Given the description of an element on the screen output the (x, y) to click on. 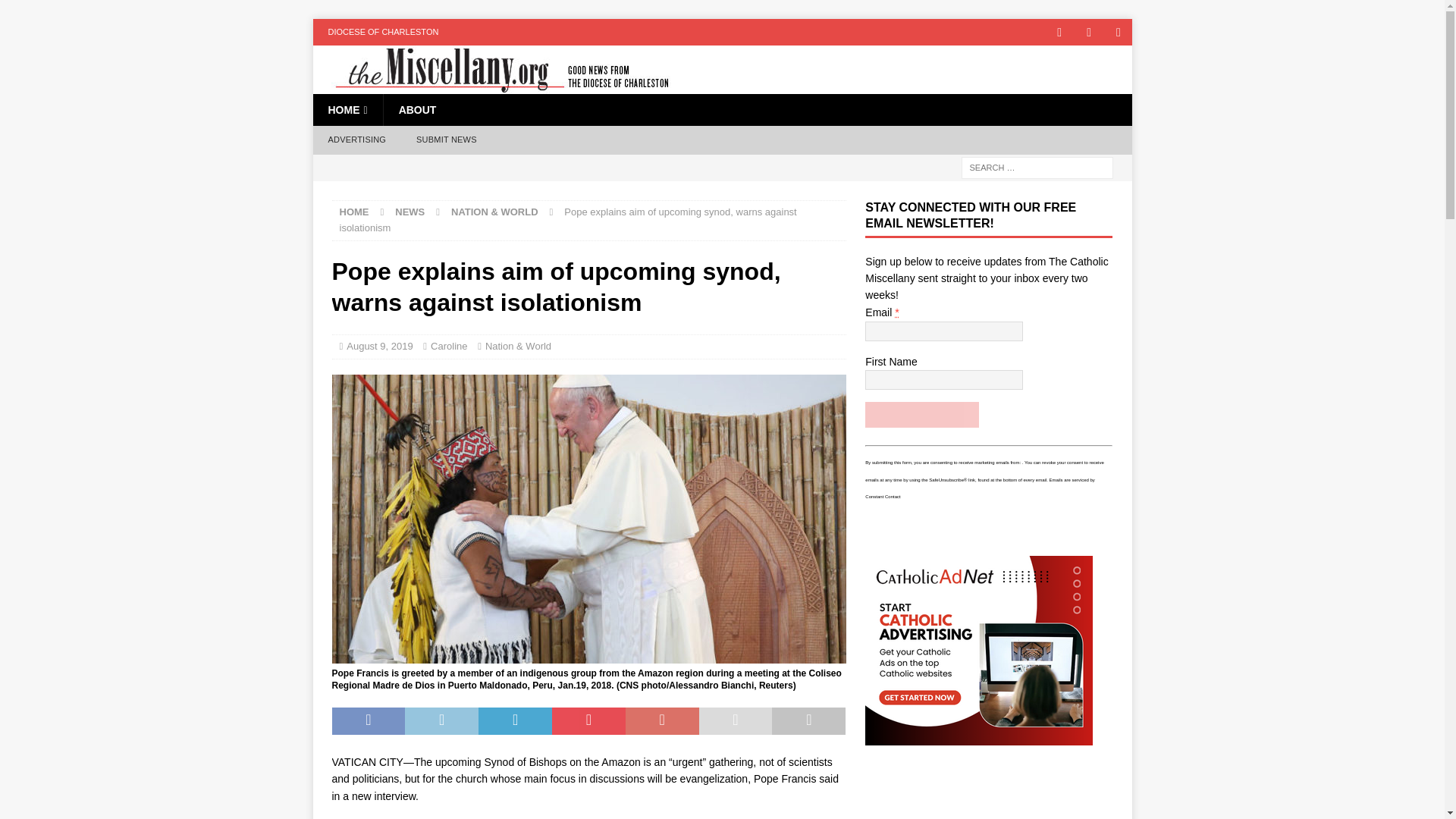
The Catholic Miscellany (492, 85)
HOME (347, 110)
August 9, 2019 (379, 346)
ADVERTISING (357, 140)
NEWS (409, 211)
SUBMIT NEWS (446, 140)
ABOUT (416, 110)
Join today! (921, 414)
Caroline (448, 346)
HOME (354, 211)
Search (56, 11)
DIOCESE OF CHARLESTON (382, 31)
